Given the description of an element on the screen output the (x, y) to click on. 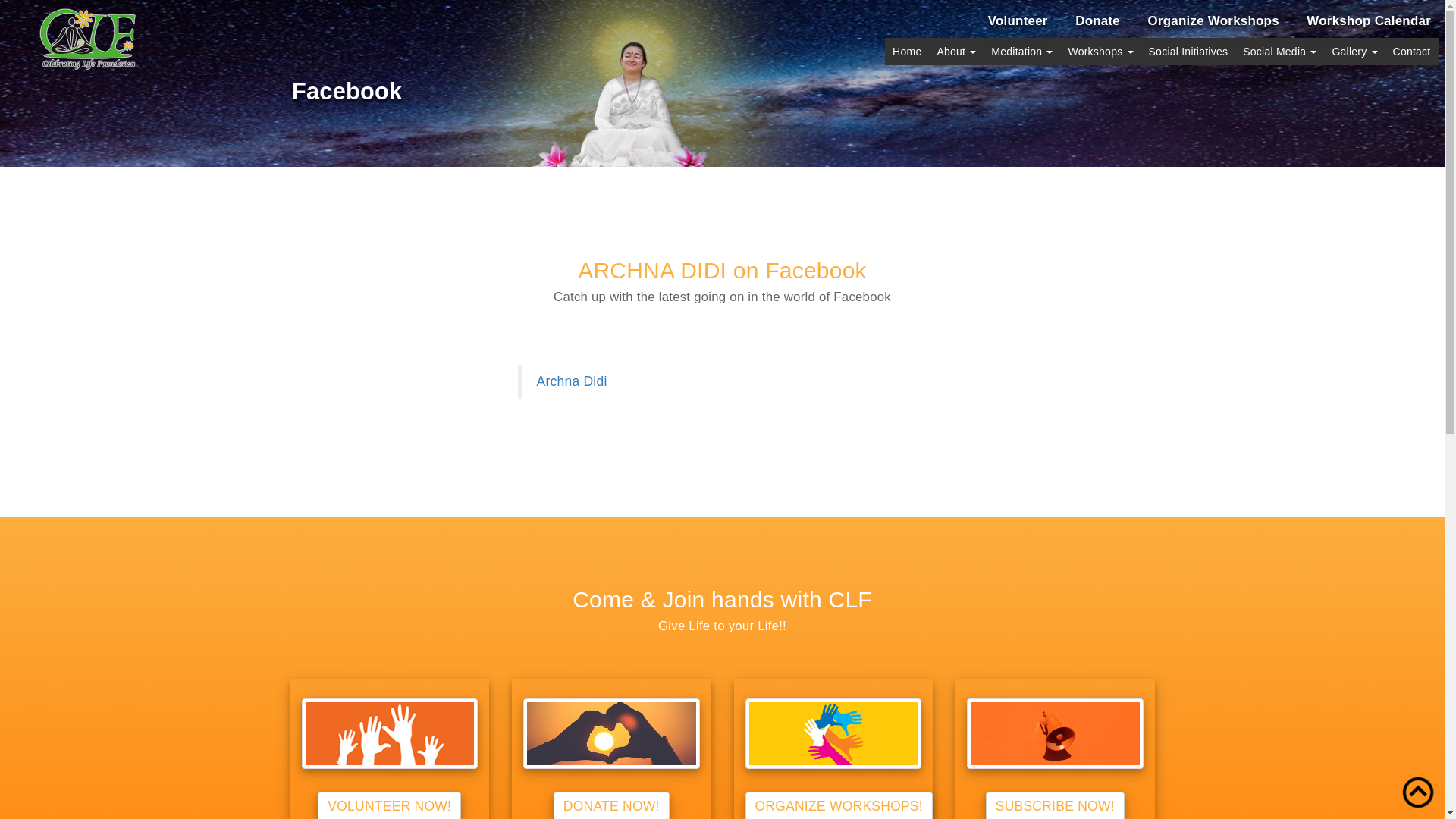
Social Initiatives (1188, 51)
Contact (1412, 51)
Meditation (1021, 51)
Gallery (1353, 51)
About (956, 51)
Home (906, 51)
Organize Workshops (1213, 20)
Donate (1097, 20)
VOLUNTEER NOW! (389, 805)
SUBSCRIBE NOW! (1054, 805)
Workshops (1099, 51)
Workshops (1099, 51)
Home (906, 51)
Archna Didi (572, 381)
Volunteer (1017, 20)
